Given the description of an element on the screen output the (x, y) to click on. 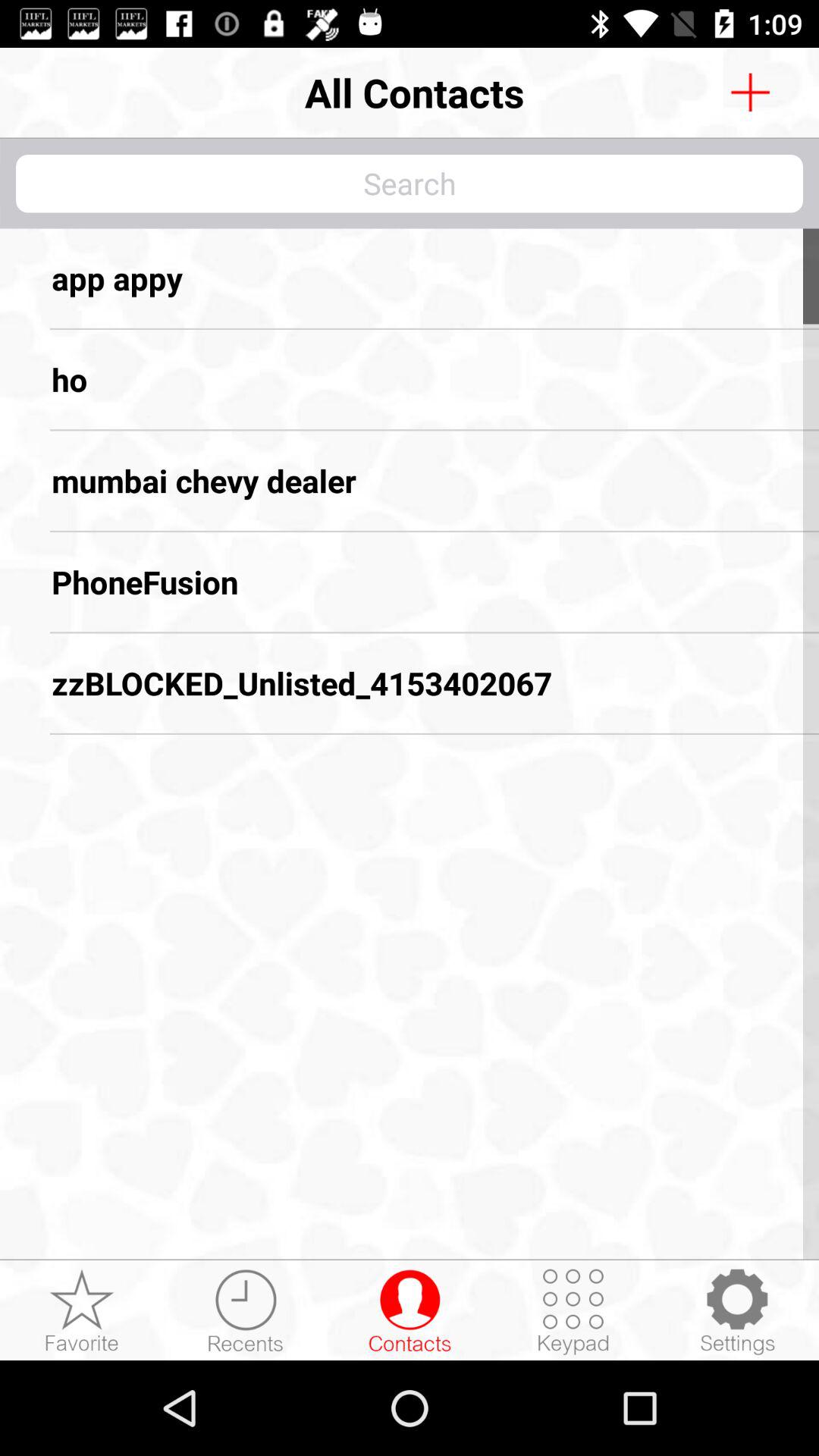
go to call log (245, 1311)
